Given the description of an element on the screen output the (x, y) to click on. 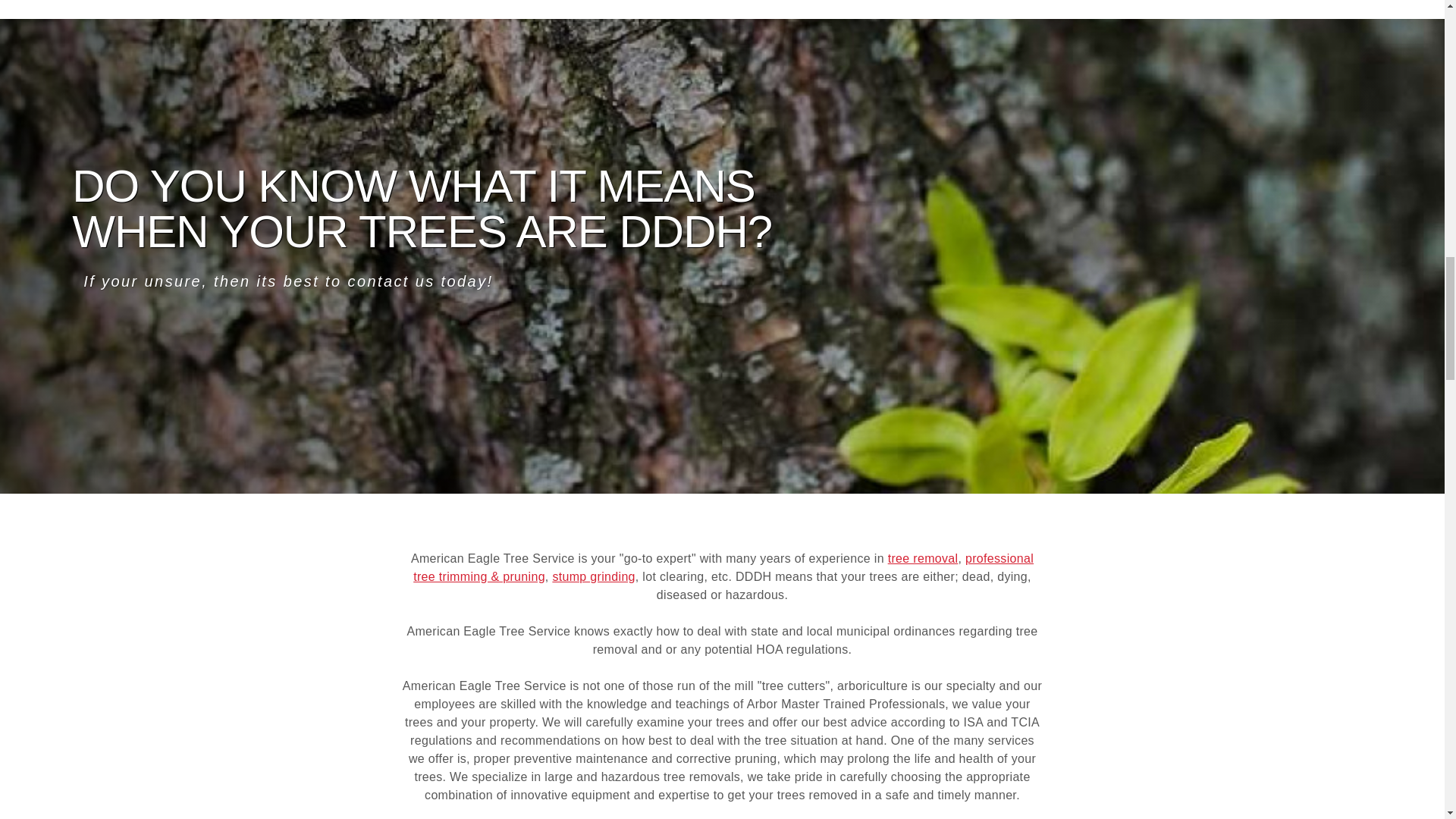
DO YOU KNOW WHAT IT MEANS WHEN YOUR TREES ARE DDDH? (421, 208)
tree removal (923, 558)
stump grinding (592, 576)
